Given the description of an element on the screen output the (x, y) to click on. 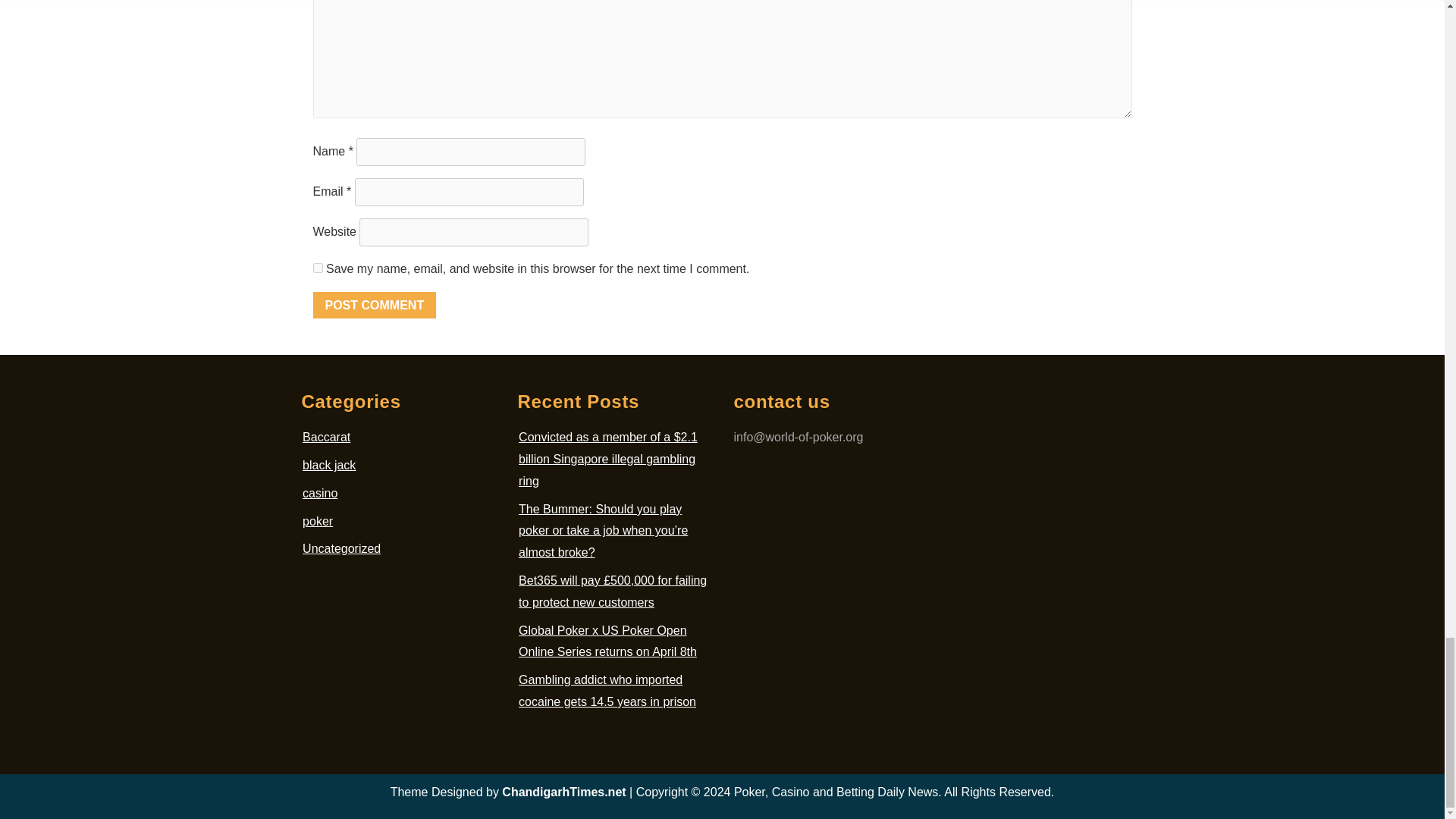
Post Comment (374, 304)
yes (317, 267)
